Given the description of an element on the screen output the (x, y) to click on. 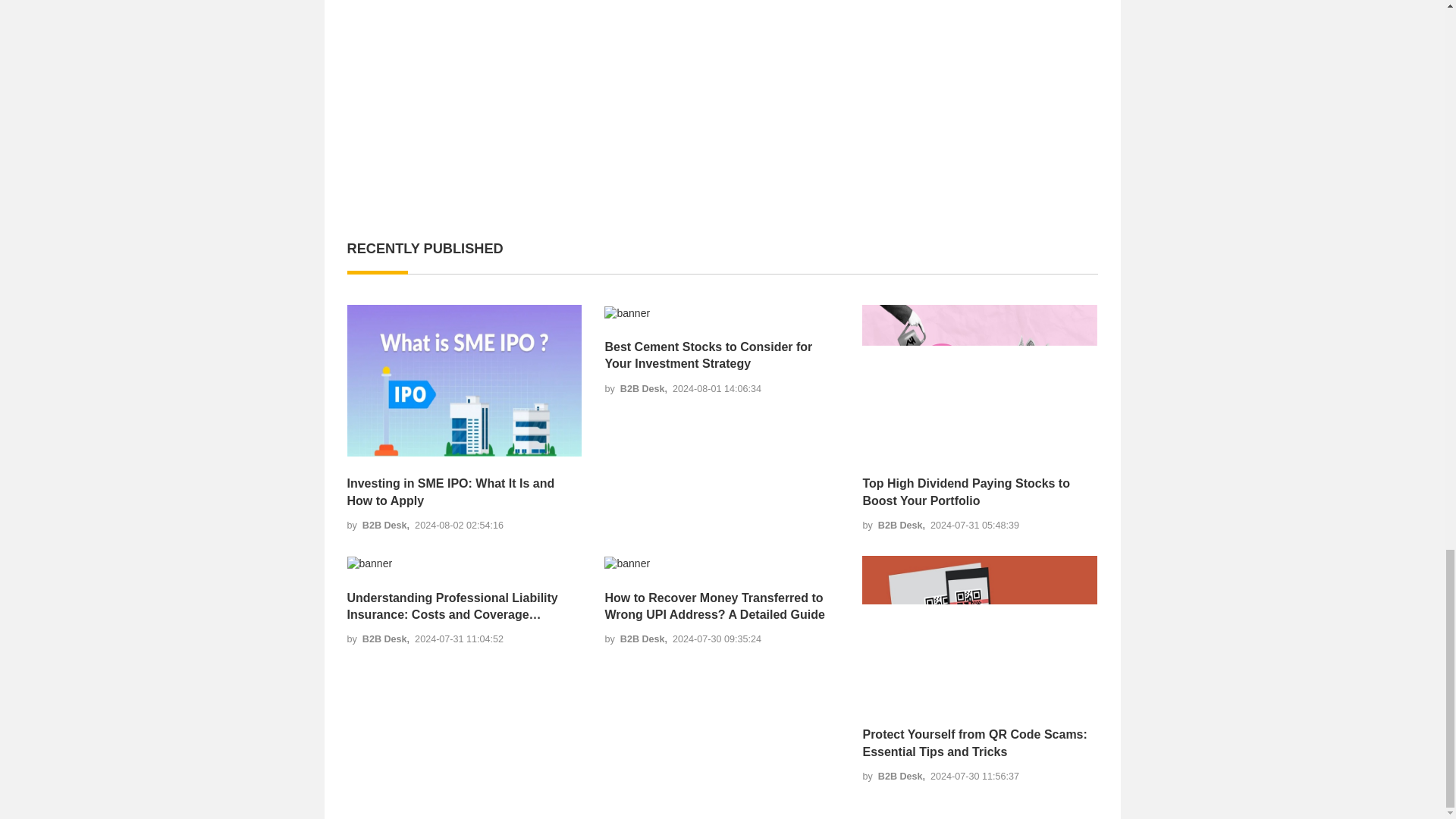
B2B Desk,  (387, 525)
Investing in SME IPO: What It Is and How to Apply (464, 492)
